Given the description of an element on the screen output the (x, y) to click on. 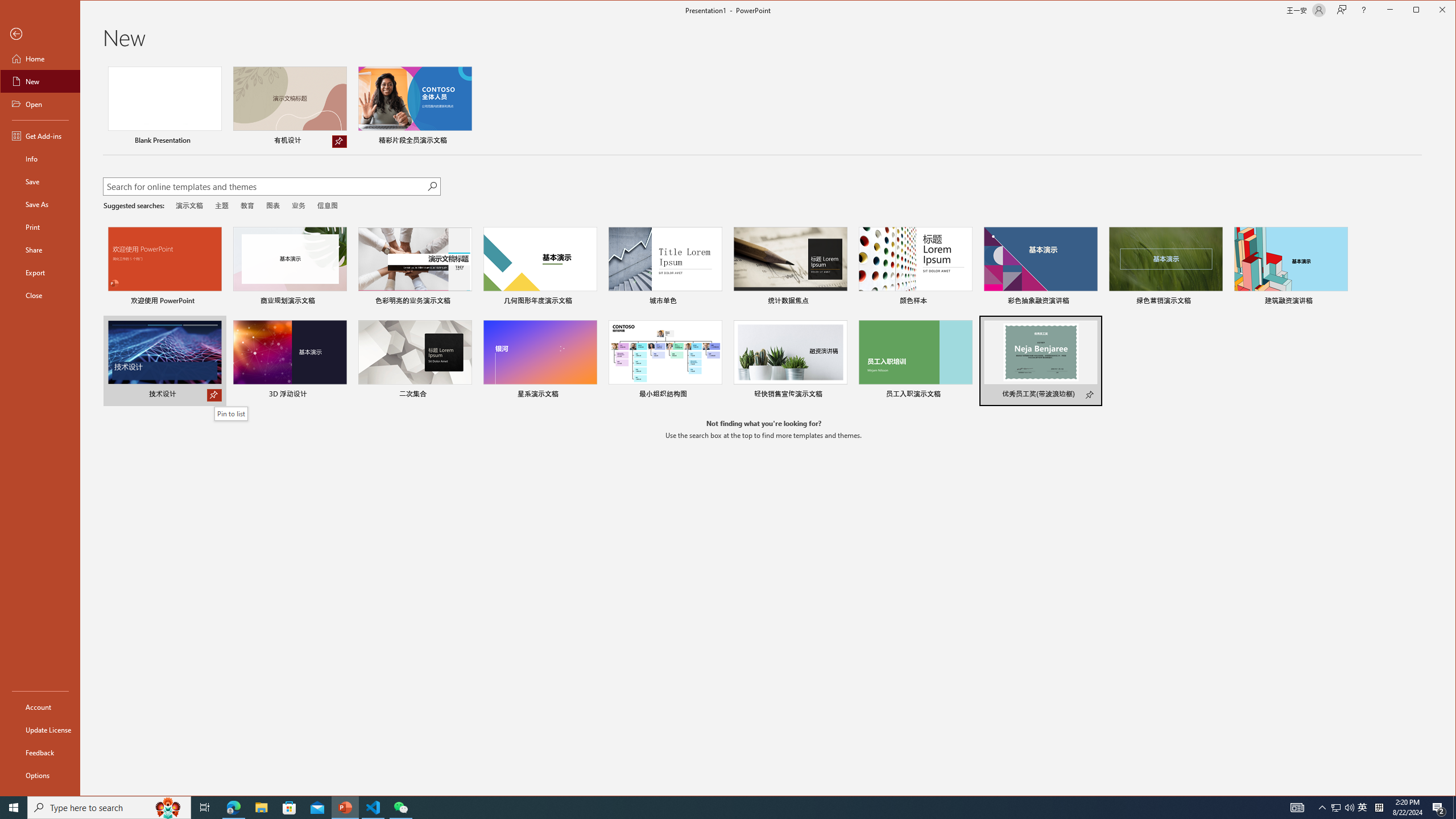
Get Add-ins (40, 135)
Search for online templates and themes (264, 187)
Options (40, 775)
Maximize (1432, 11)
Pin to list (1090, 395)
Info (40, 158)
Blank Presentation (164, 107)
